Given the description of an element on the screen output the (x, y) to click on. 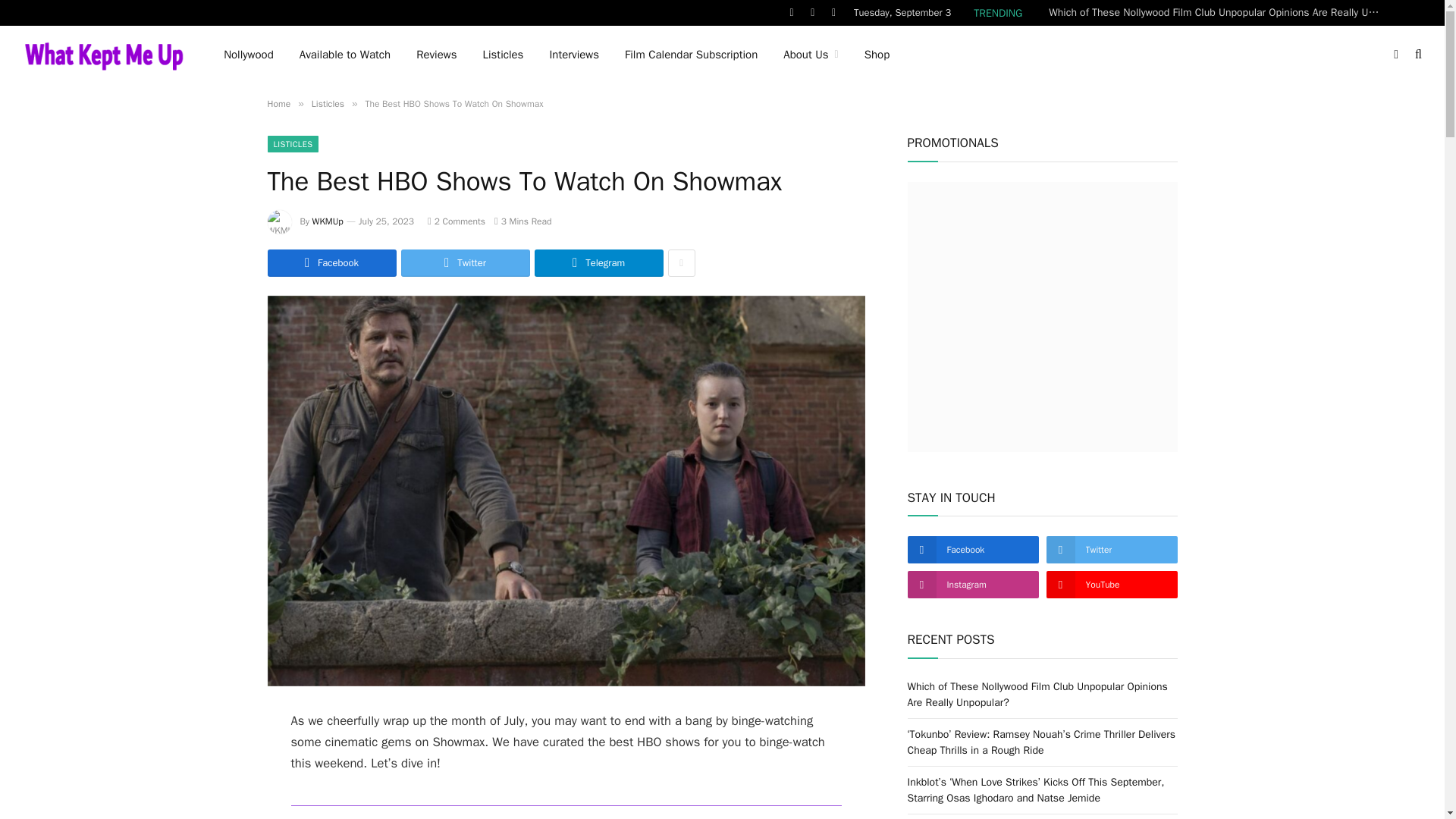
Available to Watch (344, 54)
Reviews (435, 54)
LISTICLES (292, 143)
Listicles (327, 103)
Posts by WKMUp (328, 221)
Nollywood (248, 54)
Switch to Dark Design - easier on eyes. (1396, 54)
What Kept Me Up (103, 54)
Listicles (501, 54)
